Given the description of an element on the screen output the (x, y) to click on. 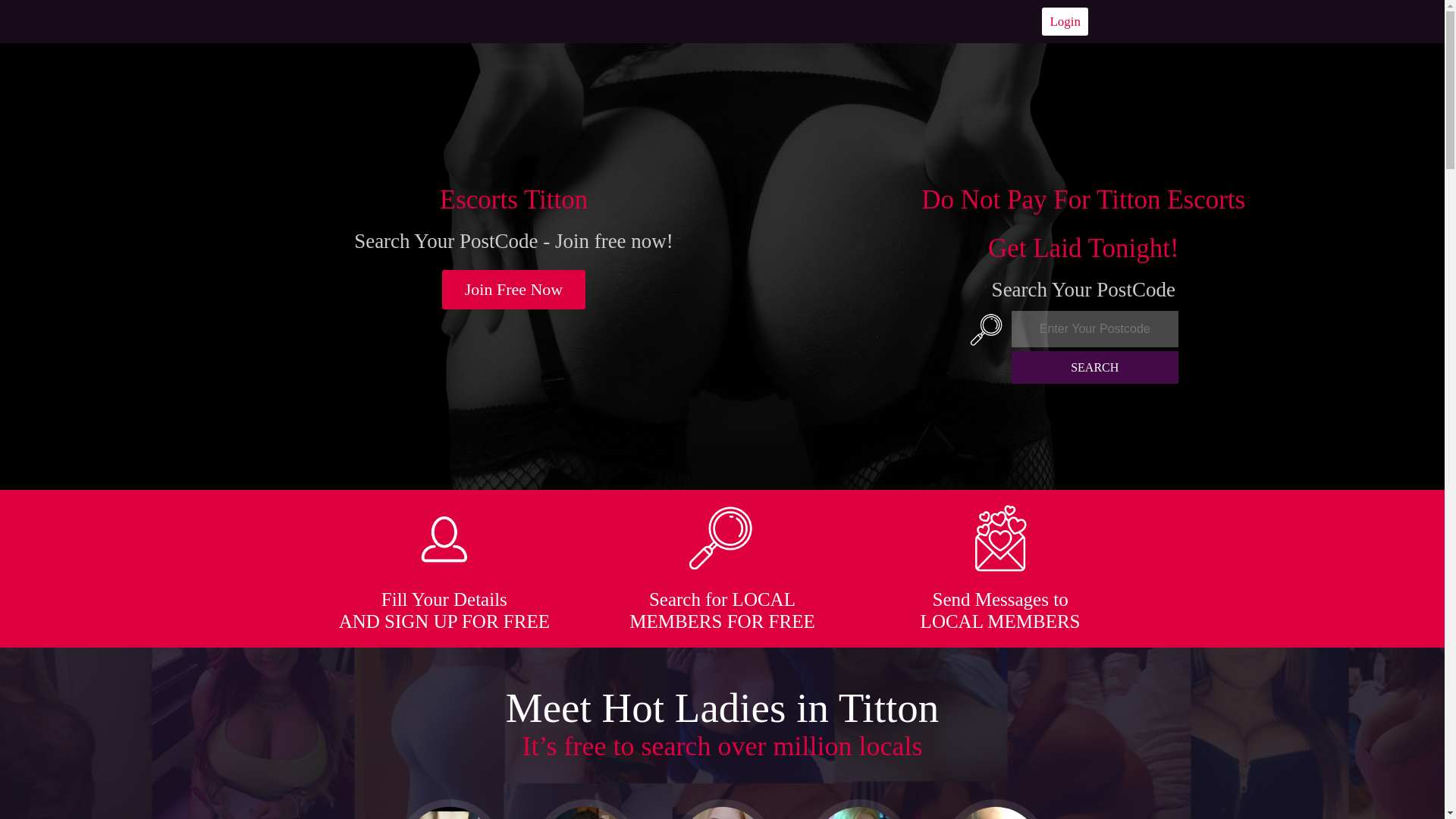
Login (1064, 21)
Join Free Now (514, 289)
SEARCH (1094, 367)
Join (514, 289)
Login (1064, 21)
